Given the description of an element on the screen output the (x, y) to click on. 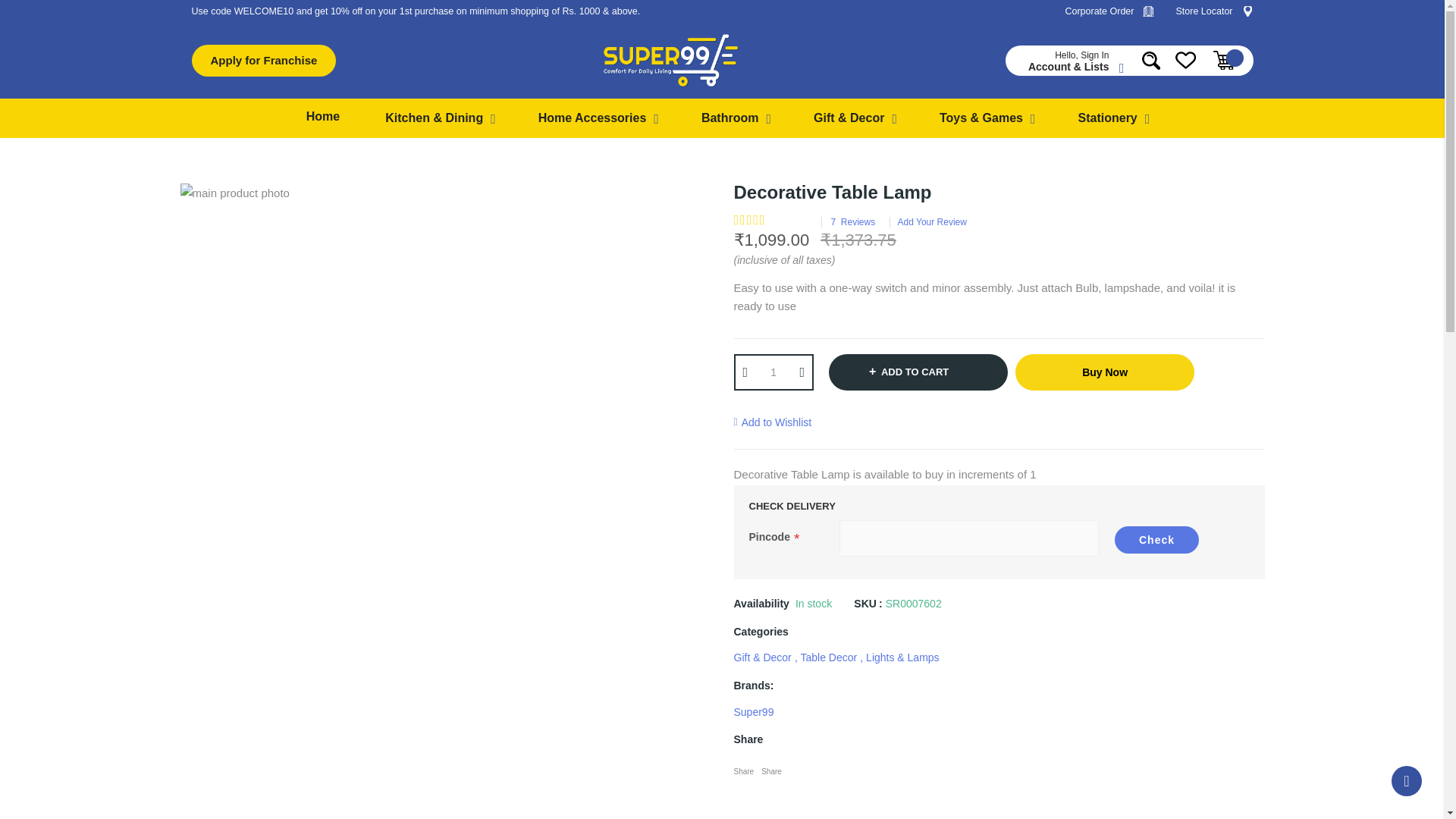
1 (773, 372)
Add to cart (917, 371)
Apply for Franchise (263, 60)
Store Locator (1213, 10)
Pincode (969, 538)
Quantity (773, 372)
Buy Now (1103, 371)
Add to Wishlist (772, 422)
Home (322, 116)
Corporate Order (1109, 10)
Check (1156, 539)
Availability (792, 603)
Super99 (753, 711)
Home Accessories (598, 118)
